Given the description of an element on the screen output the (x, y) to click on. 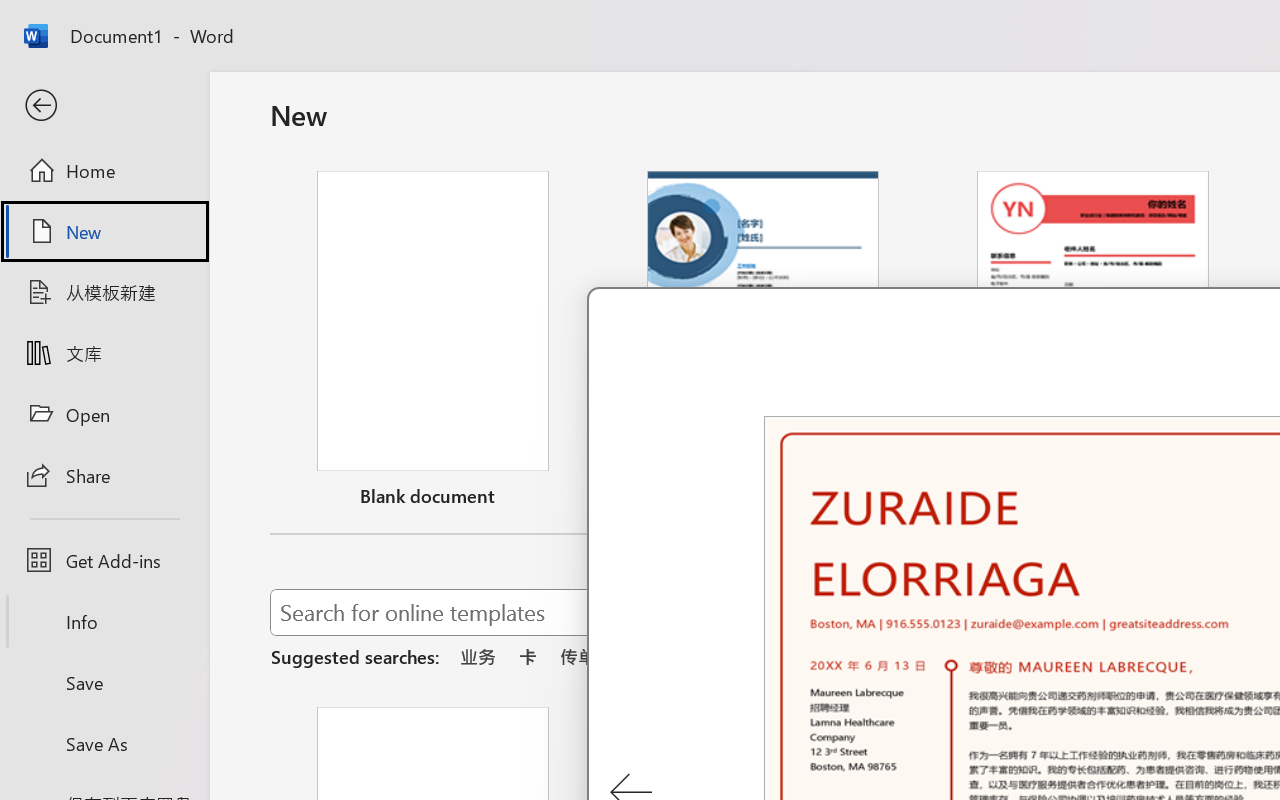
Unpin from list (1223, 499)
Start searching (1178, 612)
New (104, 231)
Back (104, 106)
Info (104, 621)
Save As (104, 743)
